Given the description of an element on the screen output the (x, y) to click on. 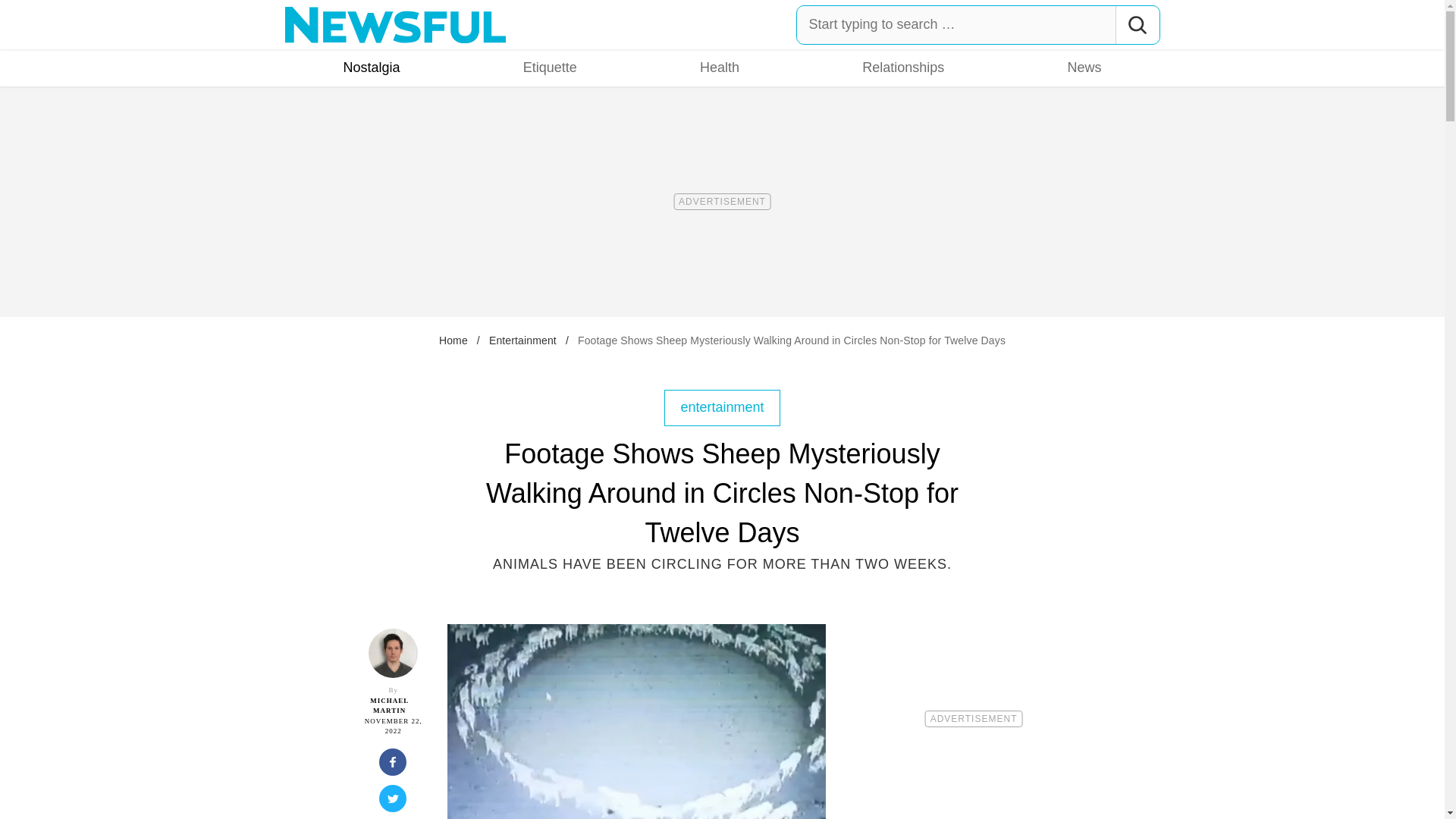
Home (453, 340)
Entertainment (522, 340)
Newsful Homepage (395, 23)
Etiquette (549, 66)
Nostalgia (371, 66)
Relationships (903, 66)
News (1083, 66)
MICHAEL MARTIN (389, 705)
Type and press Enter to search (978, 24)
Health (719, 66)
